Given the description of an element on the screen output the (x, y) to click on. 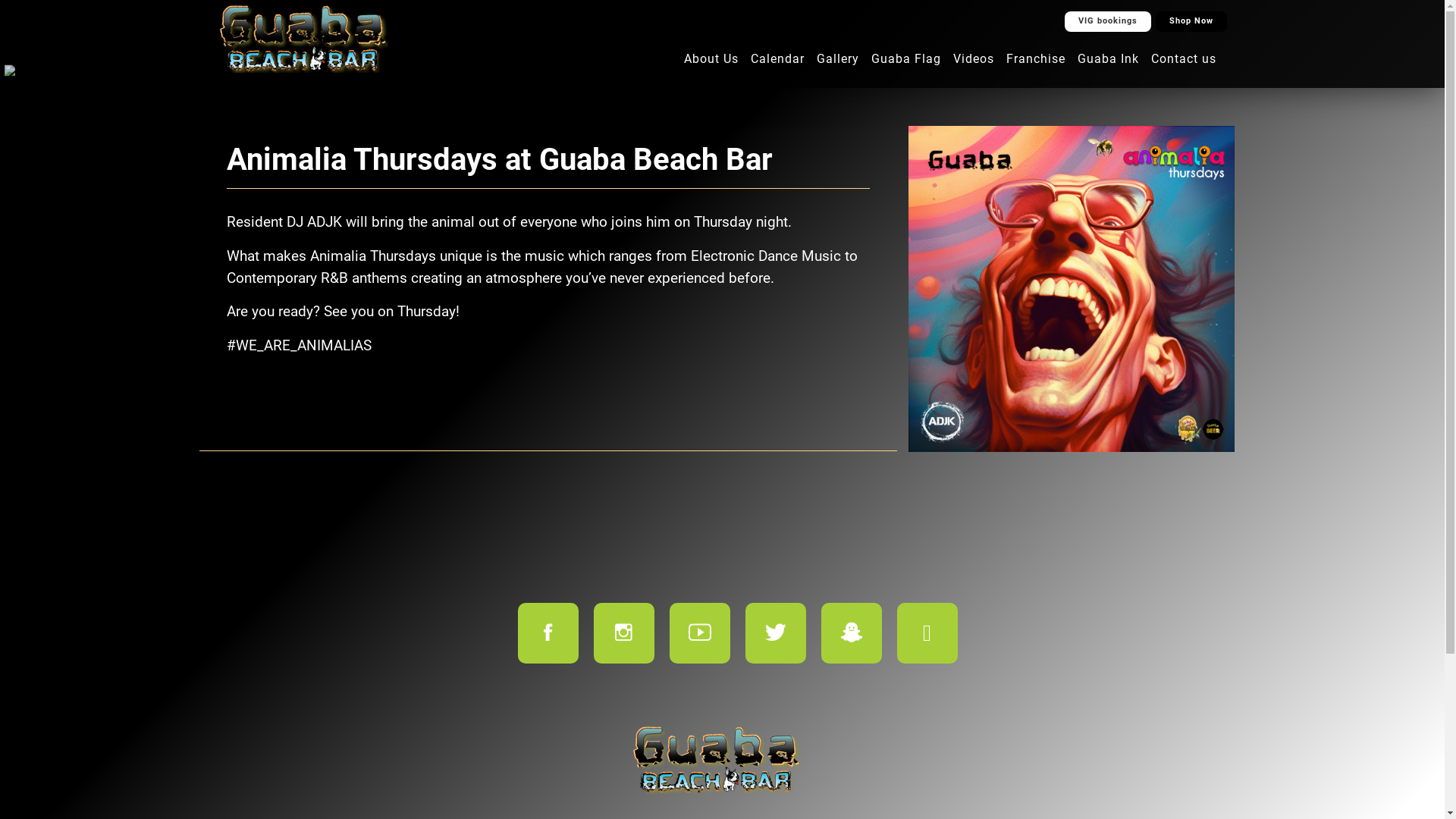
Calendar Element type: text (777, 58)
Shop Now Element type: text (1191, 21)
Gallery Element type: text (836, 58)
VIG bookings Element type: text (1107, 21)
Franchise Element type: text (1034, 58)
Guaba Flag Element type: text (905, 58)
Open Guaba Radio Element type: hover (10, 70)
About Us Element type: text (710, 58)
Videos Element type: text (972, 58)
Guaba Ink Element type: text (1107, 58)
Contact us Element type: text (1183, 58)
